Given the description of an element on the screen output the (x, y) to click on. 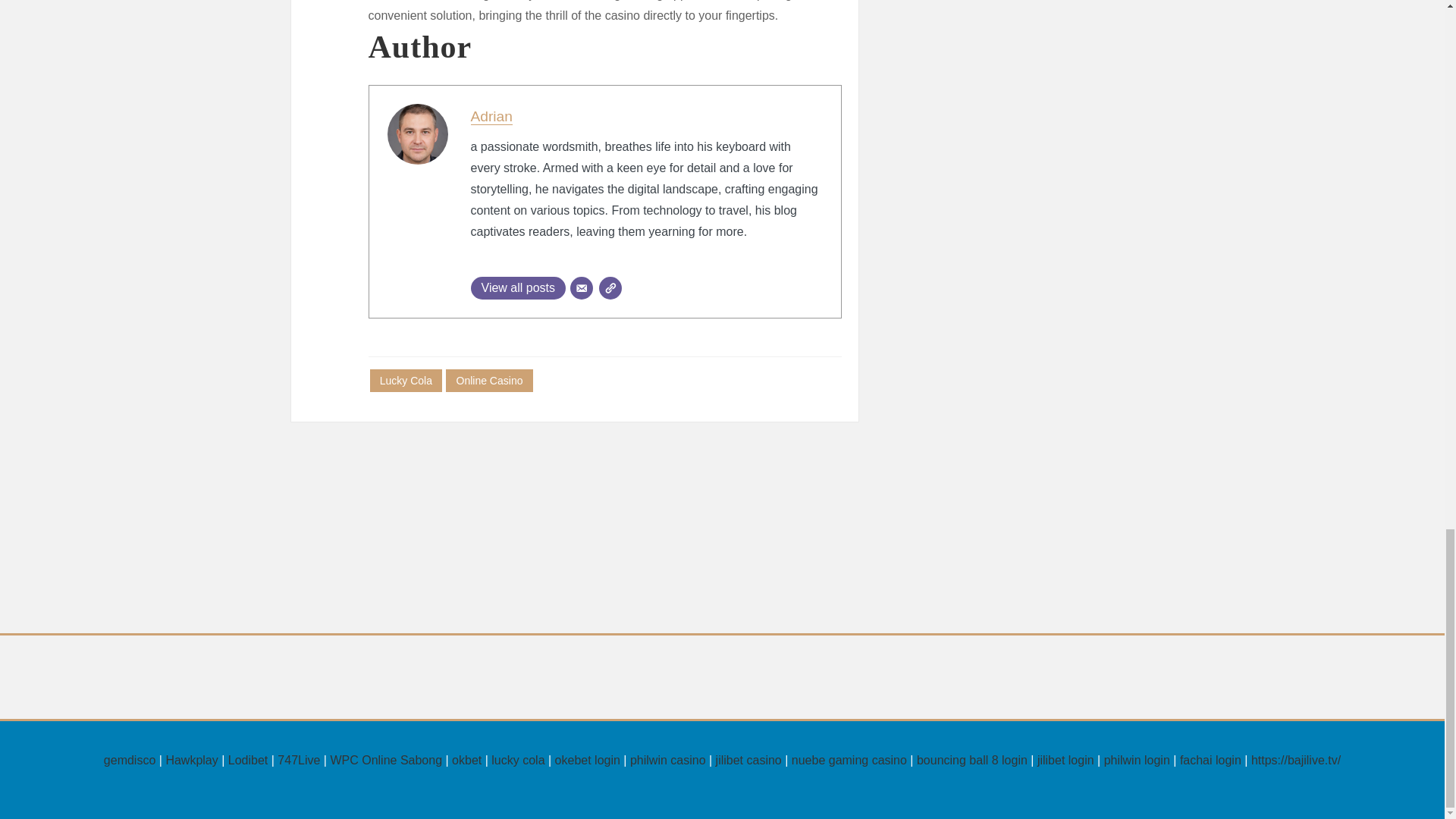
Adrian (491, 116)
Adrian (491, 116)
View all posts (518, 287)
View all posts (518, 287)
Online Casino (488, 381)
Lucky Cola (405, 381)
